Given the description of an element on the screen output the (x, y) to click on. 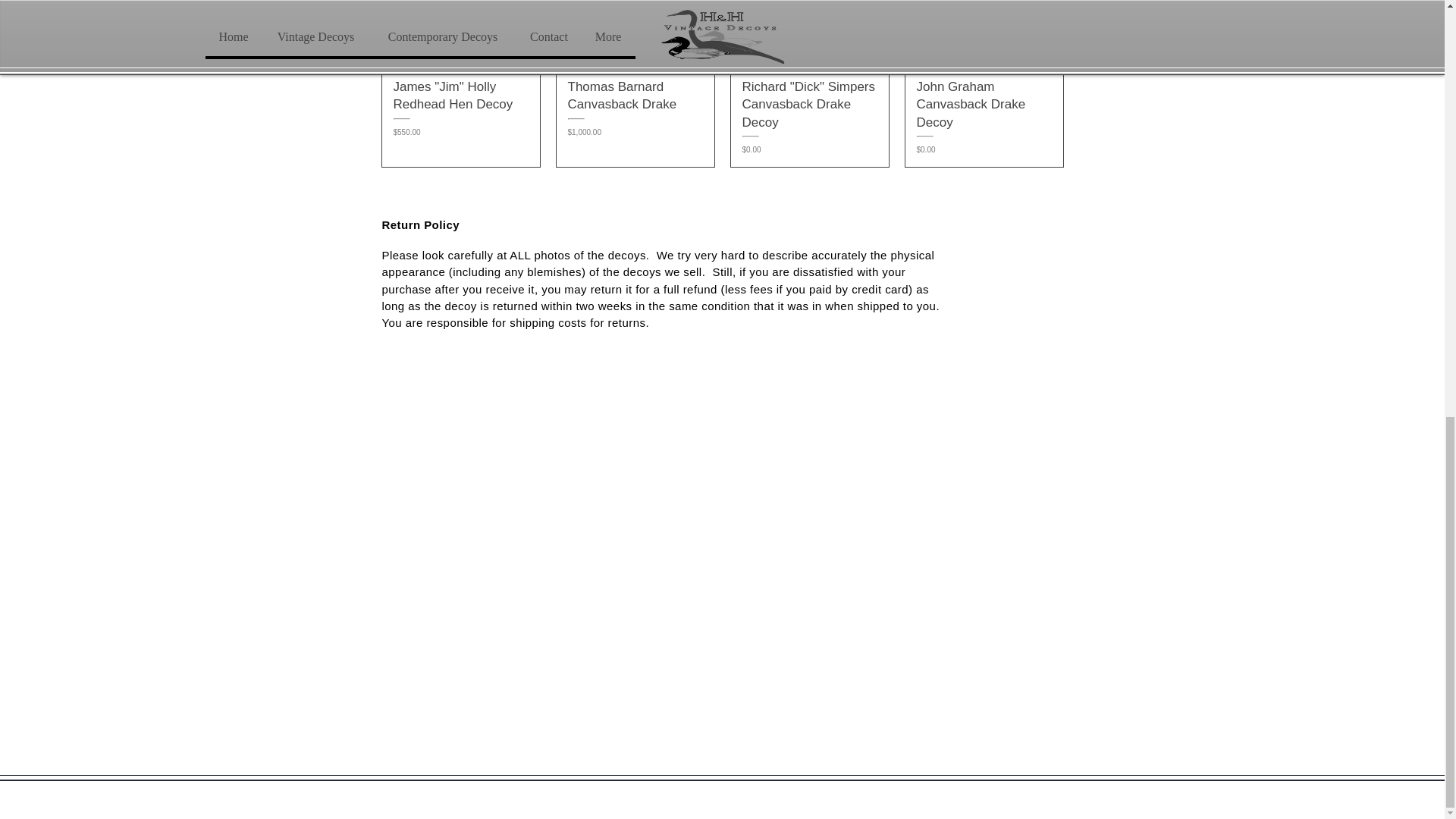
New Arrival (635, 33)
SOLD (809, 33)
New Arrival (460, 33)
SOLD (983, 33)
